Given the description of an element on the screen output the (x, y) to click on. 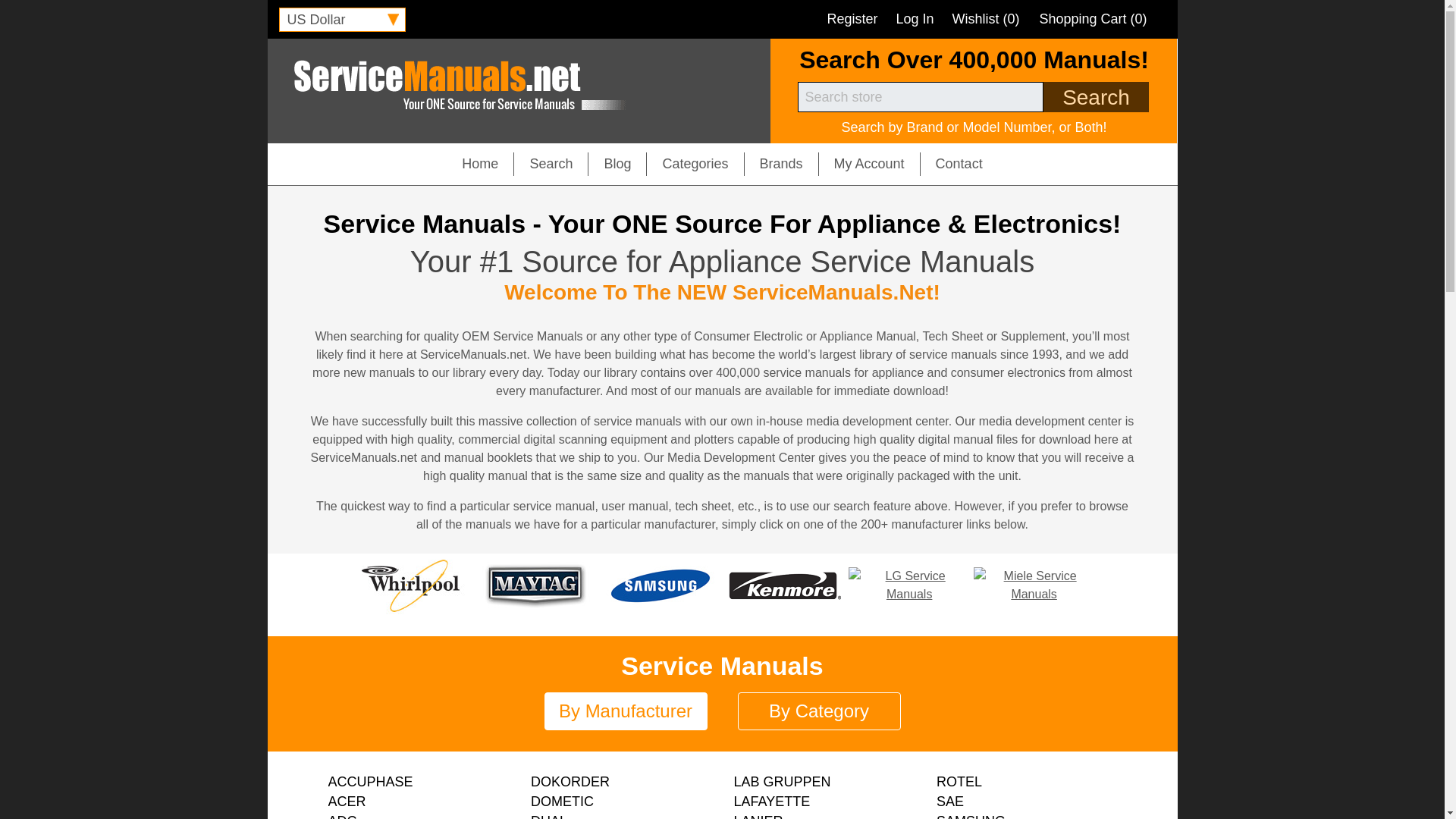
Categories (695, 164)
Search (1095, 96)
Register (852, 18)
Home (479, 164)
Log In (914, 18)
Blog (617, 164)
Search (550, 164)
